Given the description of an element on the screen output the (x, y) to click on. 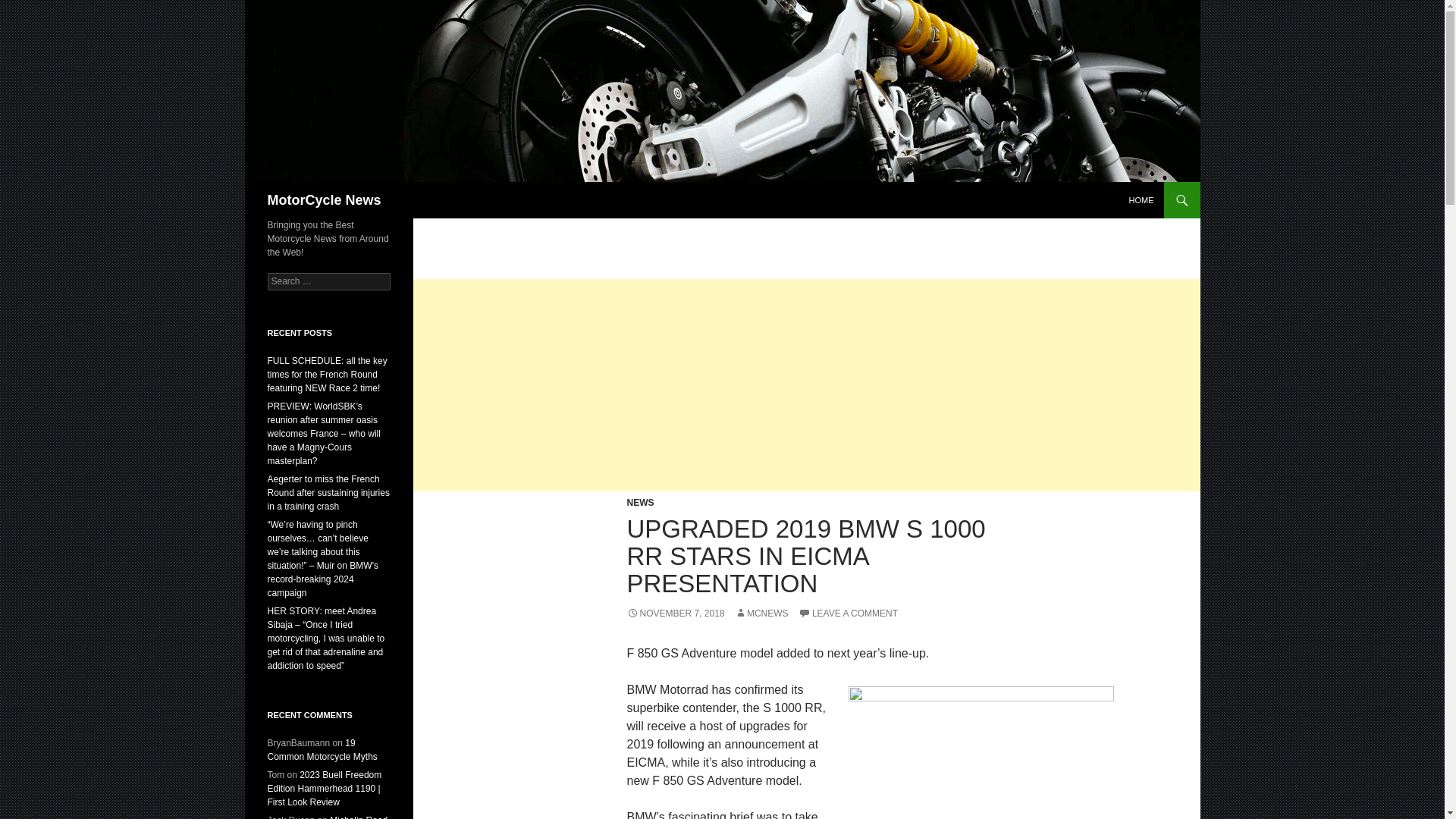
HOME (1140, 199)
NEWS (639, 502)
MotorCycle News (323, 199)
LEAVE A COMMENT (847, 613)
MCNEWS (762, 613)
